Given the description of an element on the screen output the (x, y) to click on. 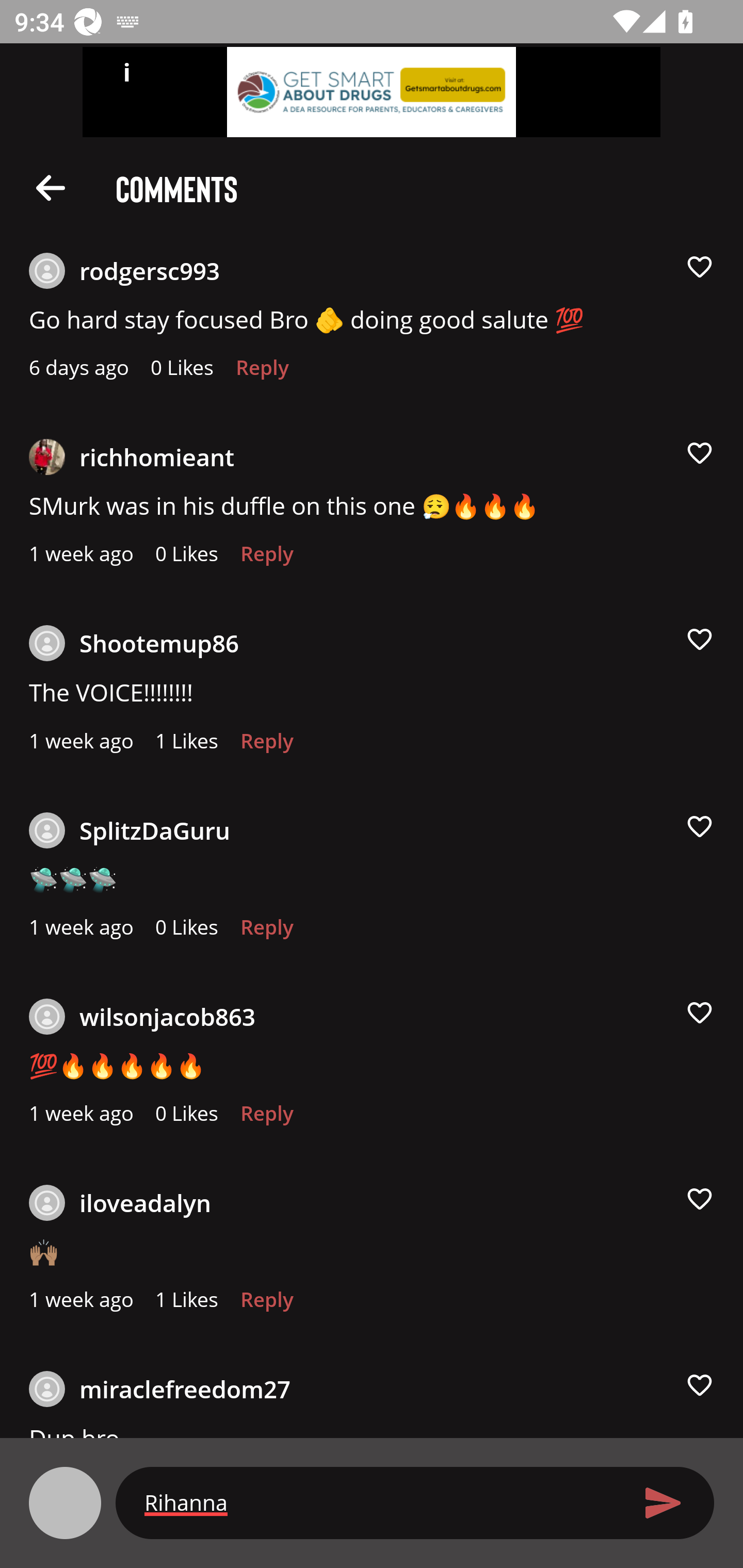
Description (50, 187)
Reply (261, 372)
Reply (266, 558)
Reply (266, 746)
Reply (266, 932)
Reply (266, 1117)
Reply (266, 1304)
Rihanna (378, 1502)
